Given the description of an element on the screen output the (x, y) to click on. 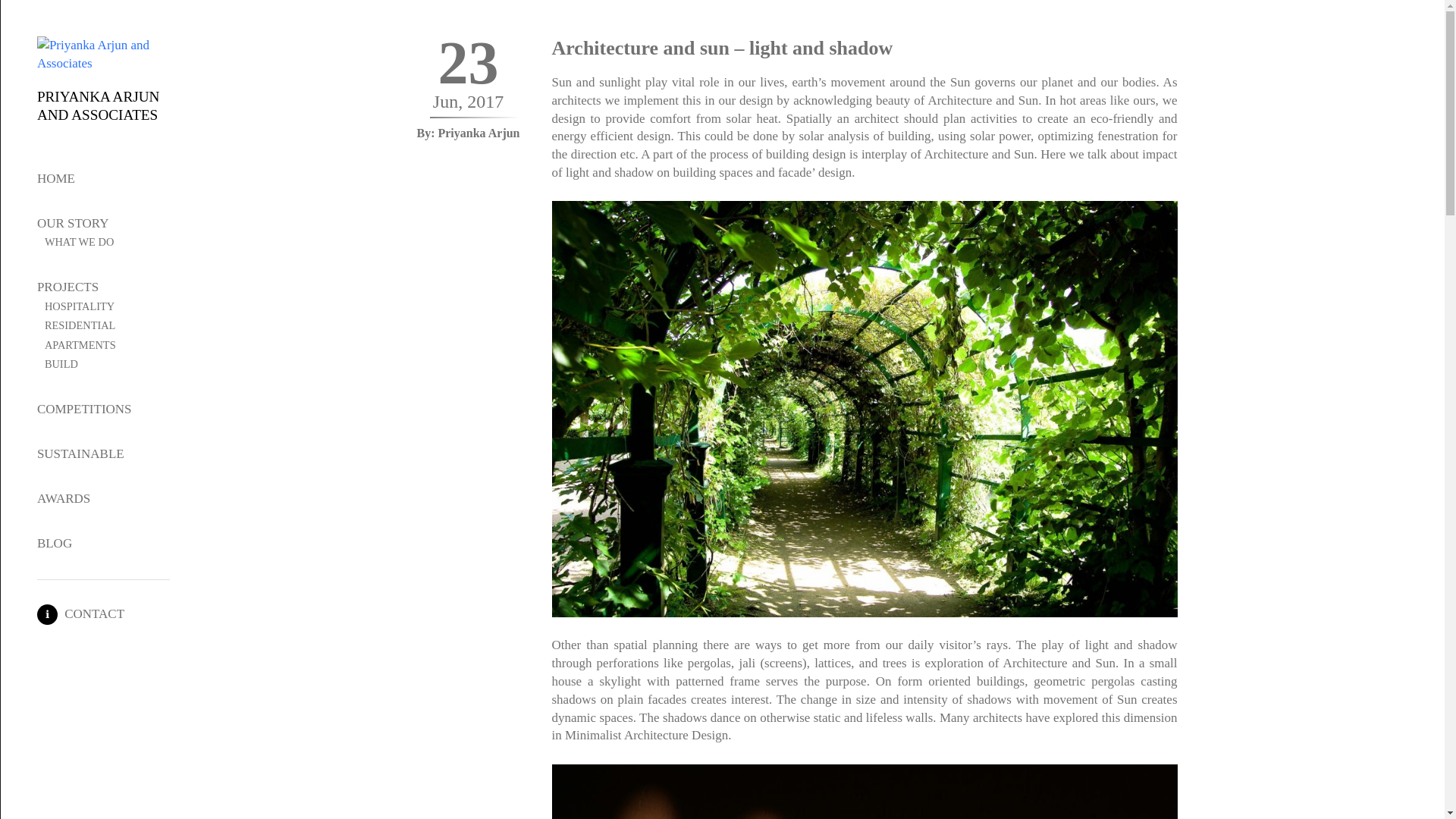
Skip to content (15, 7)
RESIDENTIAL (80, 325)
HOME (56, 178)
APARTMENTS (80, 345)
WHAT WE DO (79, 241)
HOSPITALITY (80, 306)
PROJECTS (68, 287)
AWARDS (63, 498)
SUSTAINABLE (80, 453)
BLOG (54, 543)
